Given the description of an element on the screen output the (x, y) to click on. 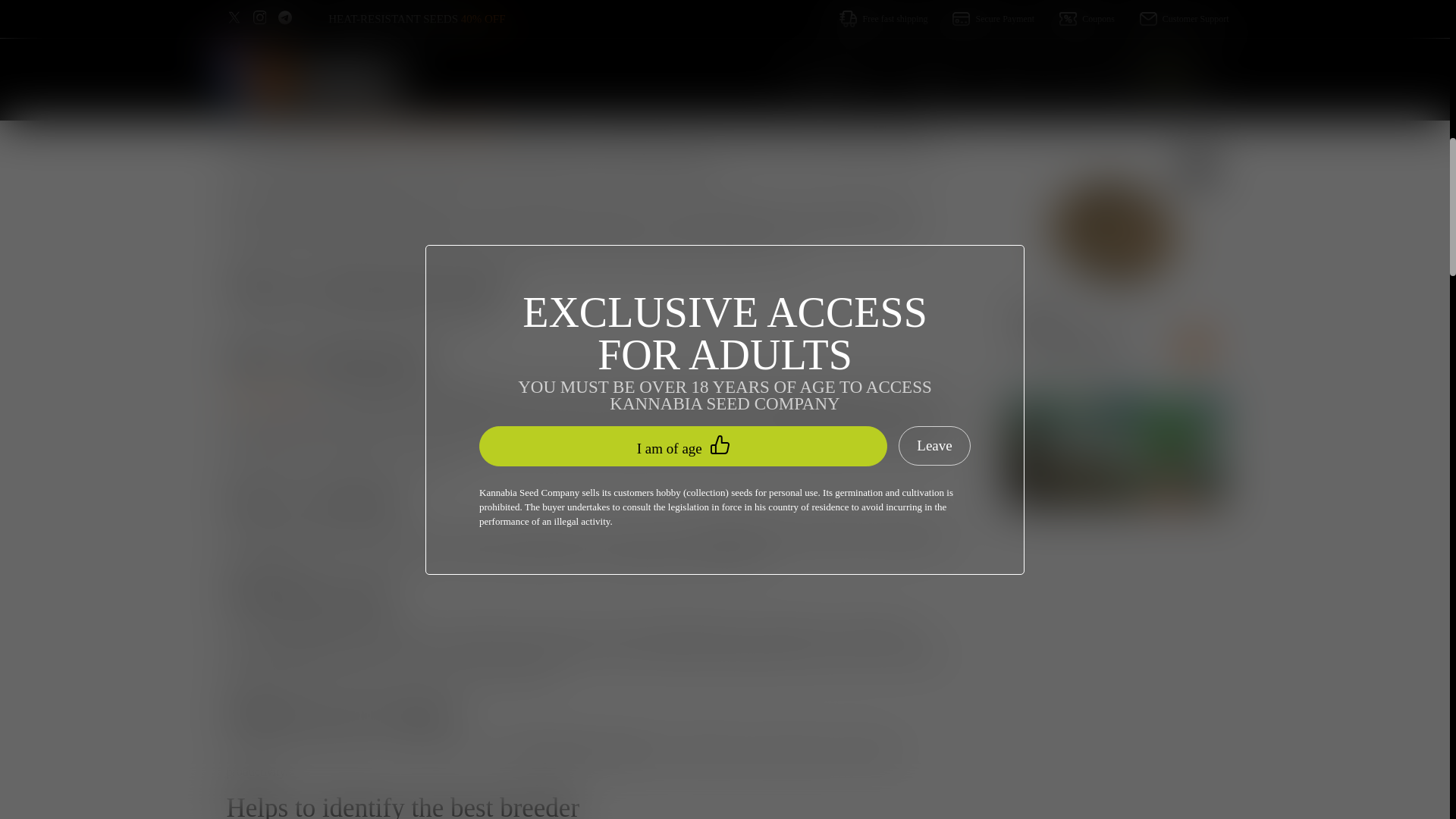
c (1036, 90)
m (1061, 90)
t (1170, 90)
Feminized cannabis seeds (265, 395)
R (1013, 90)
e (1122, 90)
d (1109, 90)
How to control temperature in grow tent (1115, 32)
e (1024, 90)
o (1049, 90)
